Given the description of an element on the screen output the (x, y) to click on. 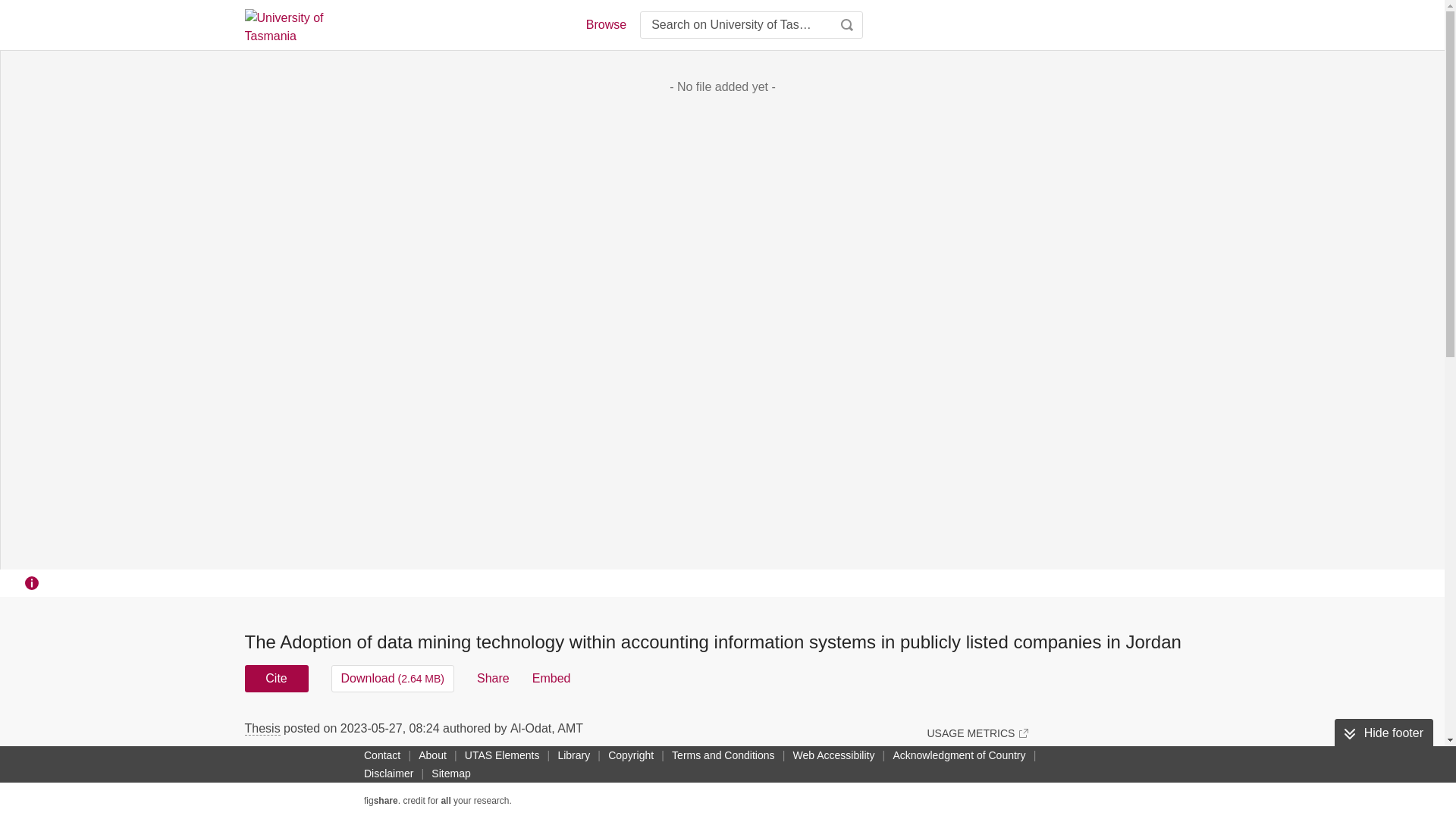
Disclaimer (388, 773)
Web Accessibility (834, 755)
Cite (275, 678)
Hide footer (1383, 733)
Sitemap (450, 773)
Browse (605, 24)
Terms and Conditions (722, 755)
USAGE METRICS (976, 732)
Acknowledgment of Country (958, 755)
Contact (381, 755)
